Given the description of an element on the screen output the (x, y) to click on. 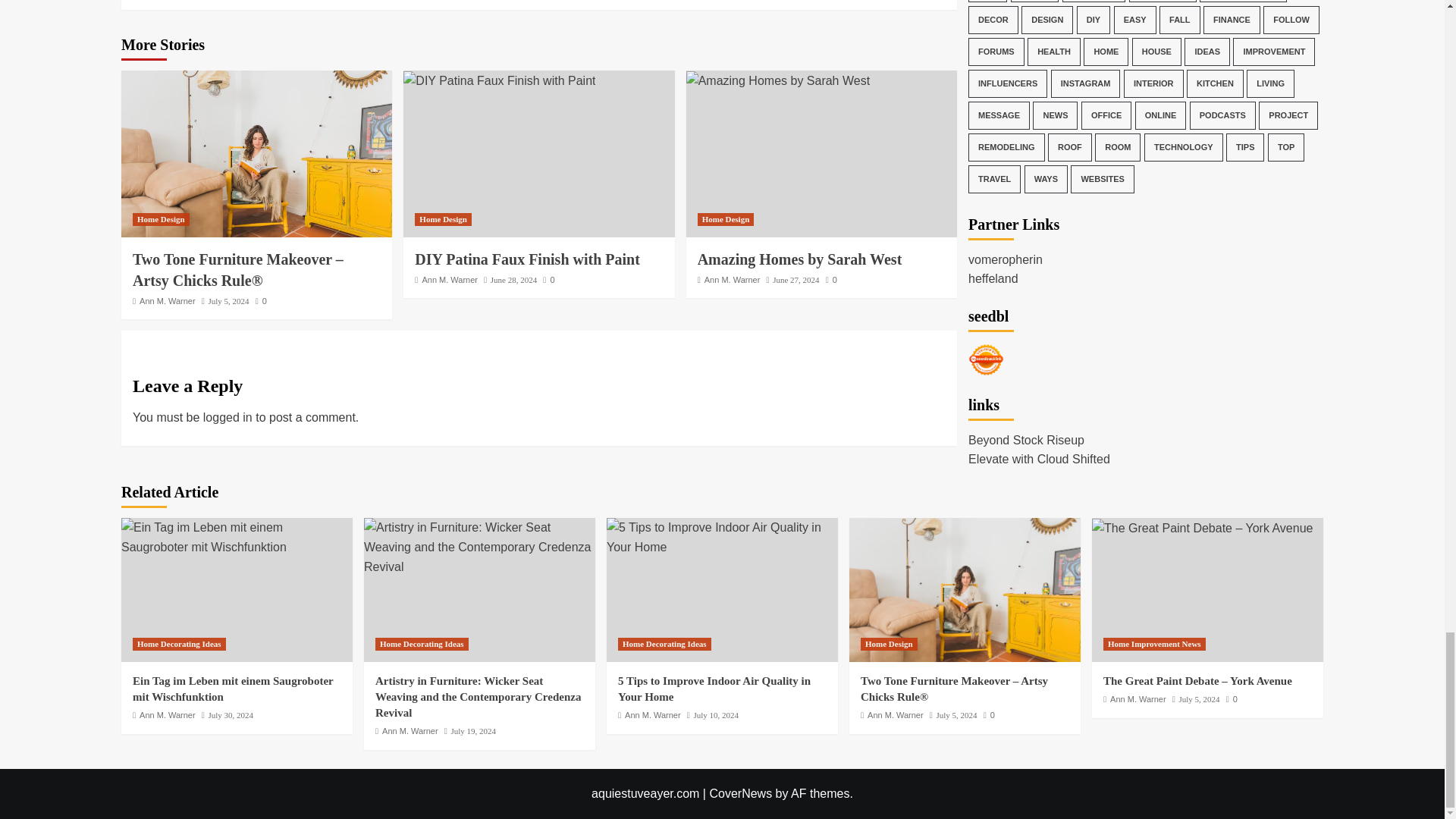
Amazing Homes by Sarah West (777, 80)
DIY Patina Faux Finish with Paint (499, 80)
